Given the description of an element on the screen output the (x, y) to click on. 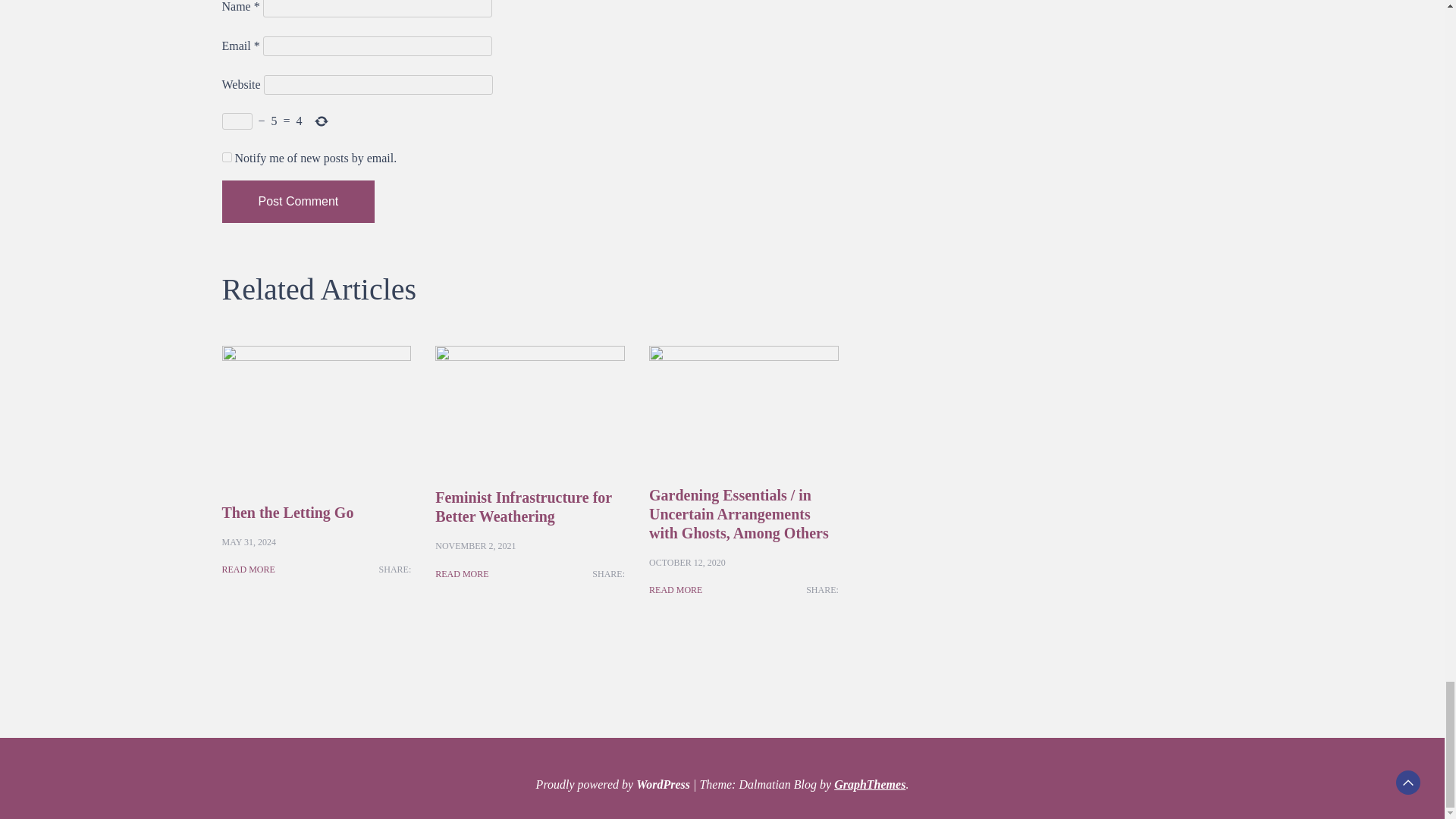
Post Comment (297, 201)
subscribe (226, 157)
